Given the description of an element on the screen output the (x, y) to click on. 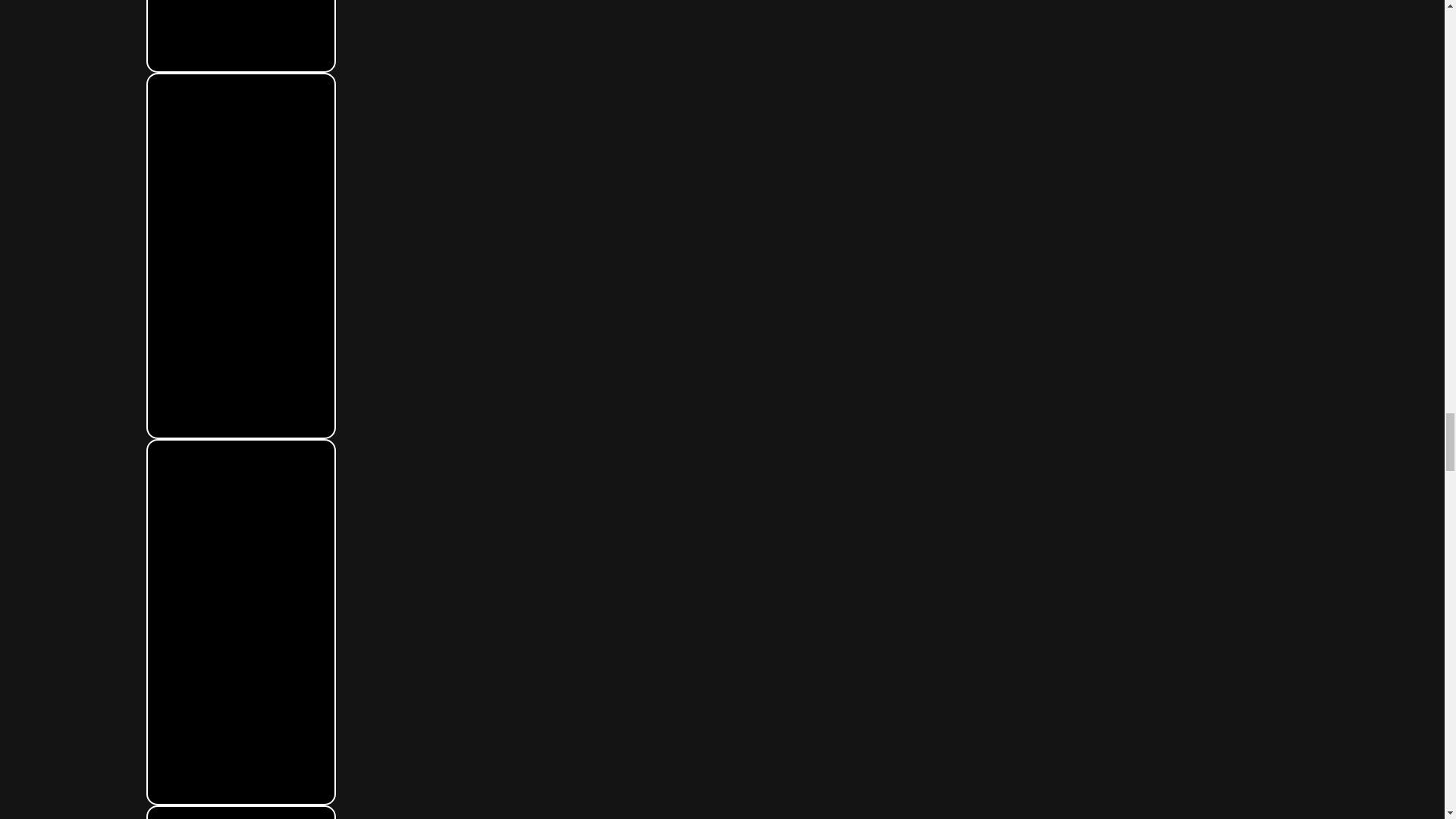
Steve-Blums-Masterclass-Blumvox-studios-1 (240, 812)
RetentionKit-Cancel-Surveys-for-WooCommerce-Subscriptions (240, 36)
